Given the description of an element on the screen output the (x, y) to click on. 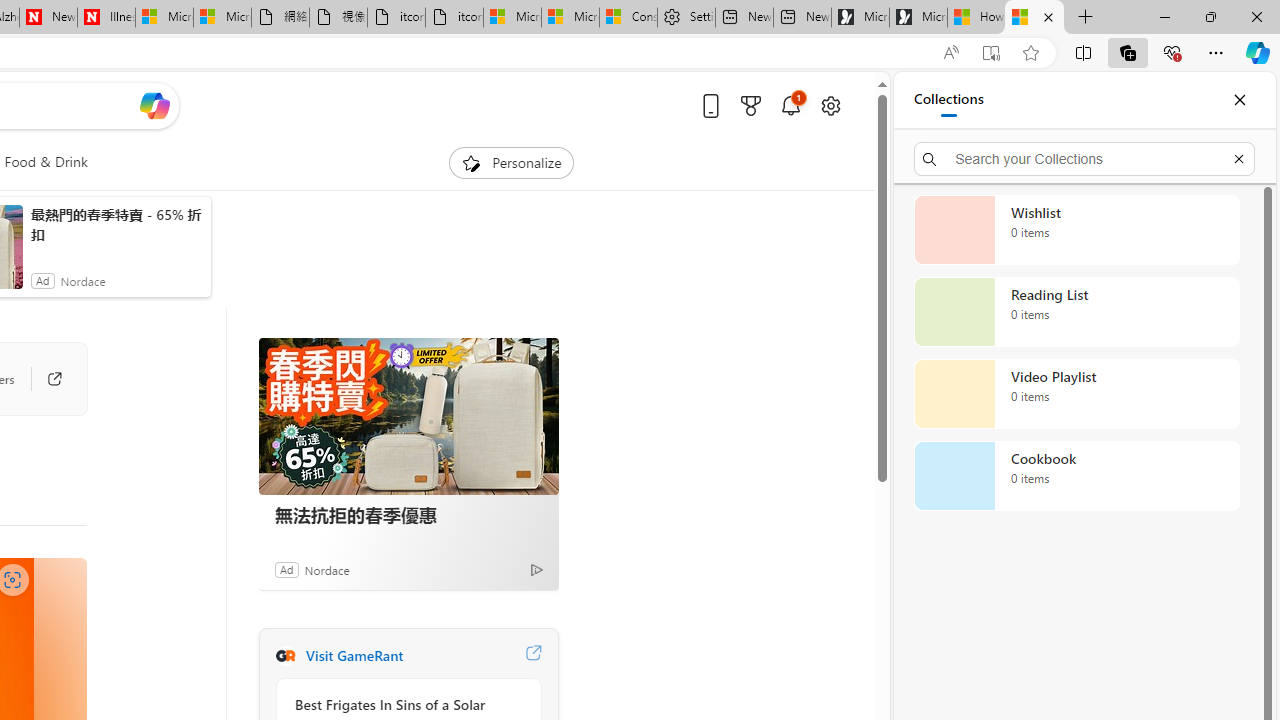
Cookbook collection, 0 items (1076, 475)
Food & Drink (45, 162)
Illness news & latest pictures from Newsweek.com (106, 17)
Personalize (511, 162)
Exit search (1238, 158)
Open settings (830, 105)
Wishlist collection, 0 items (1076, 229)
Open Copilot (155, 105)
